Given the description of an element on the screen output the (x, y) to click on. 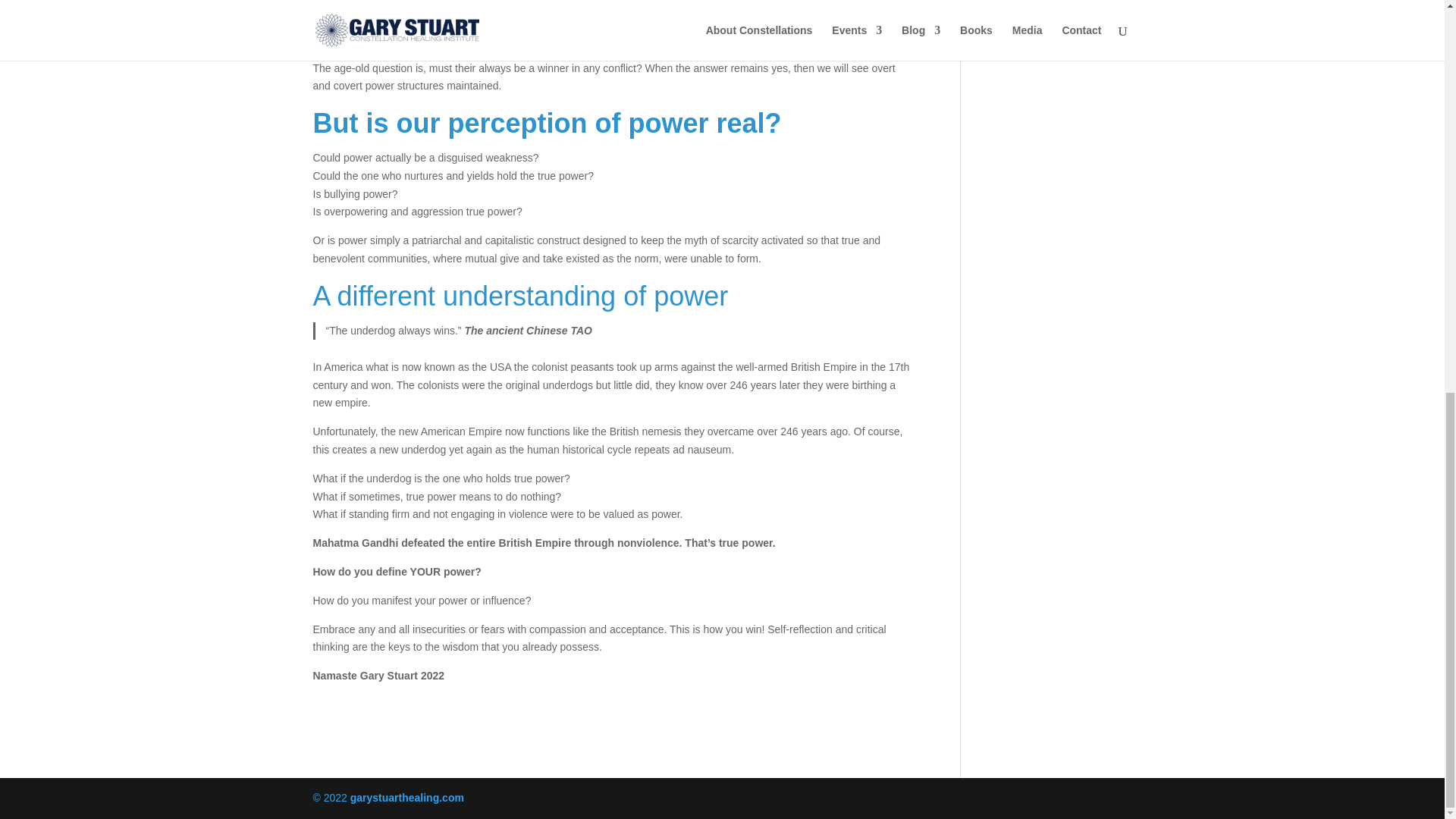
garystuarthealing.com (407, 797)
